Given the description of an element on the screen output the (x, y) to click on. 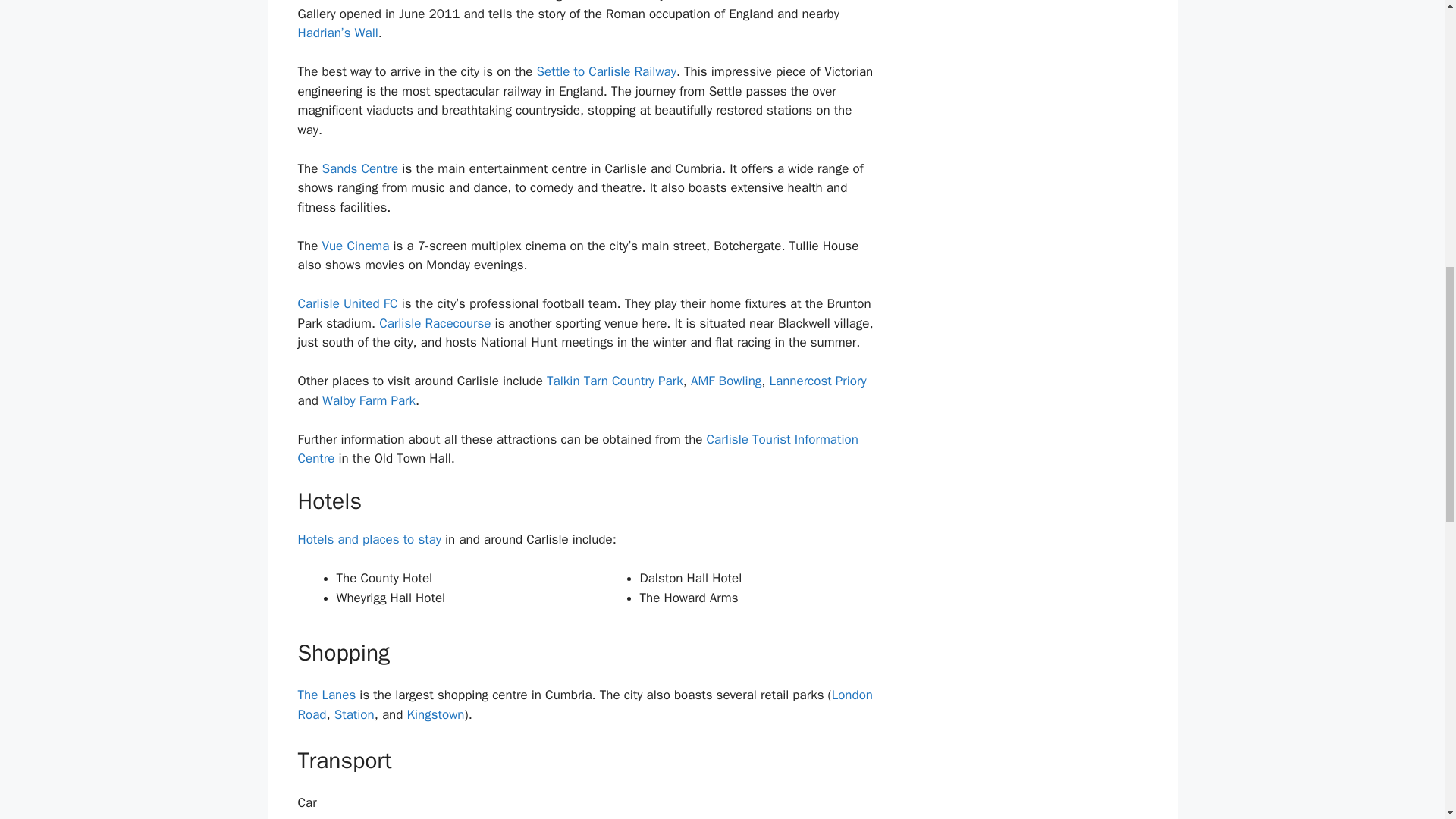
Settle to Carlisle Railway (607, 71)
Carlisle Racecourse Website (434, 323)
Carlisle United FC Website (347, 303)
Lanercost Priory Website (818, 381)
The Sands Centre Website (359, 168)
Talkin Tarn Country Park (614, 381)
Lanes Carlisle (326, 694)
Carlisle Tourist Information Centre (577, 448)
Tullie House Museum and Art Gallery (331, 1)
AMF Bowling Carlisle (725, 381)
